Given the description of an element on the screen output the (x, y) to click on. 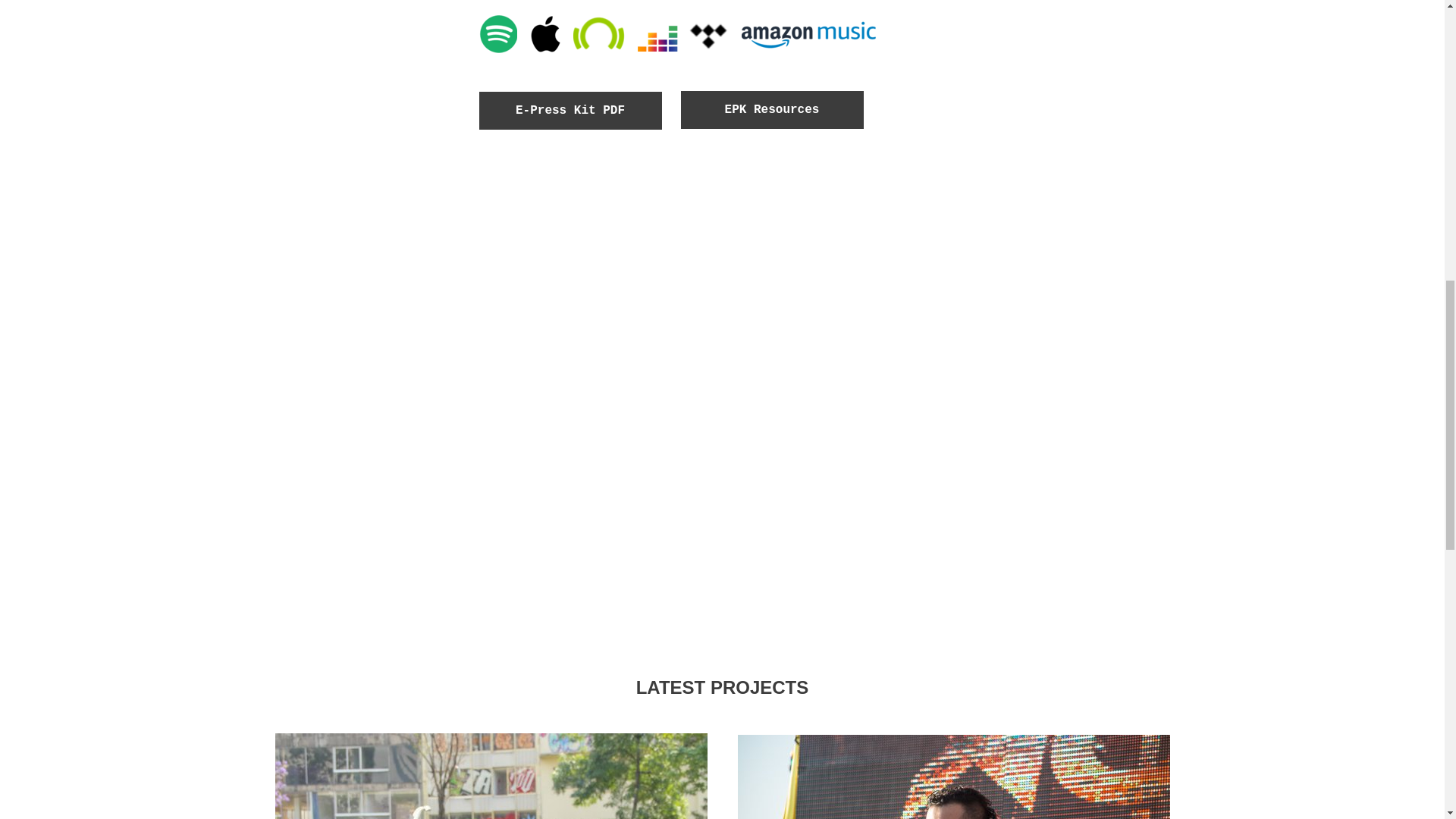
EPK Resources (772, 109)
E-Press Kit PDF (570, 110)
